Given the description of an element on the screen output the (x, y) to click on. 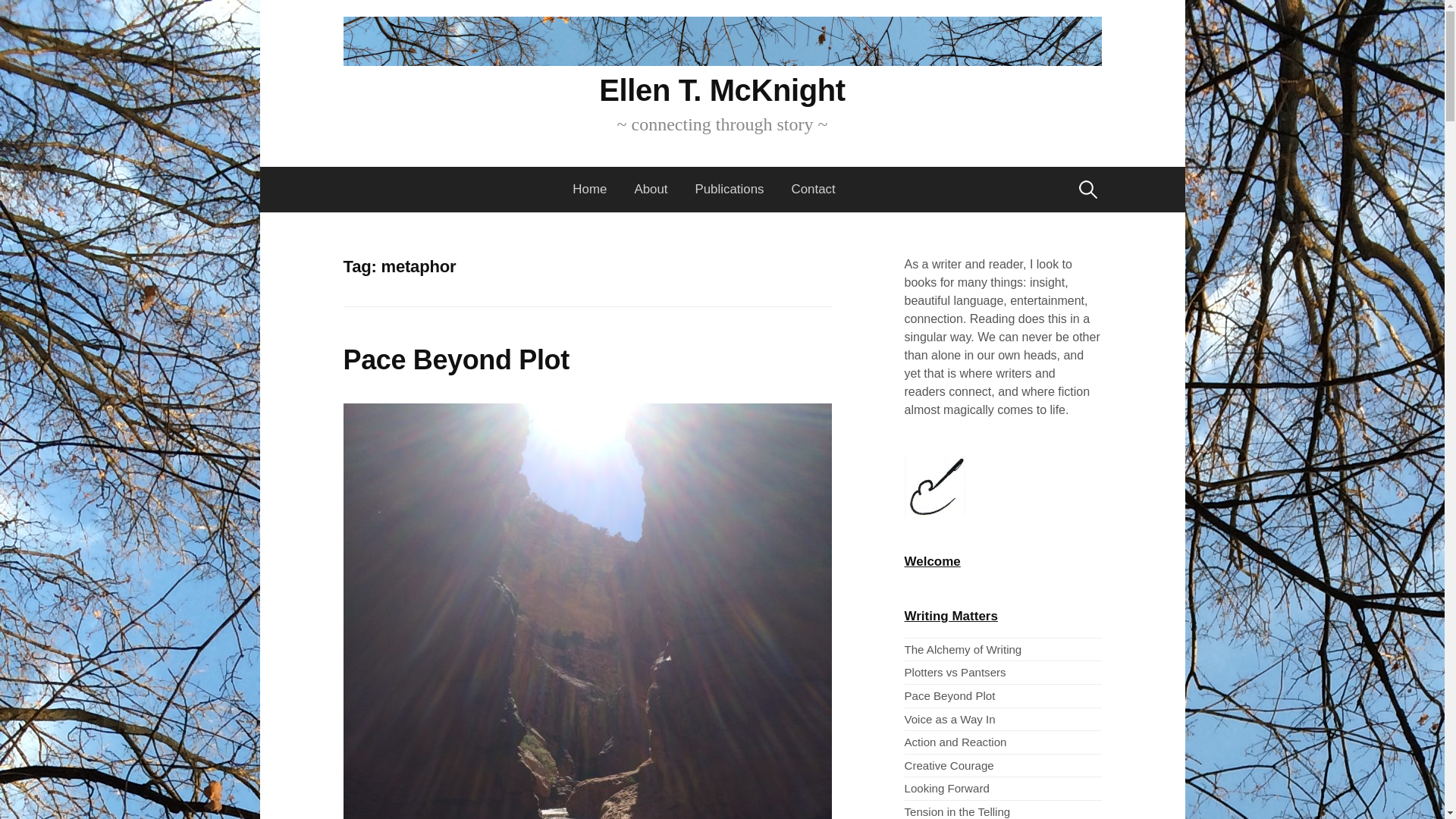
Action and Reaction (955, 741)
Creative Courage (948, 765)
About (650, 189)
Voice as a Way In (949, 718)
Writing Matters (950, 616)
Plotters vs Pantsers (955, 671)
Welcome (931, 561)
Publications (729, 189)
Contact (812, 189)
Search (16, 16)
